Given the description of an element on the screen output the (x, y) to click on. 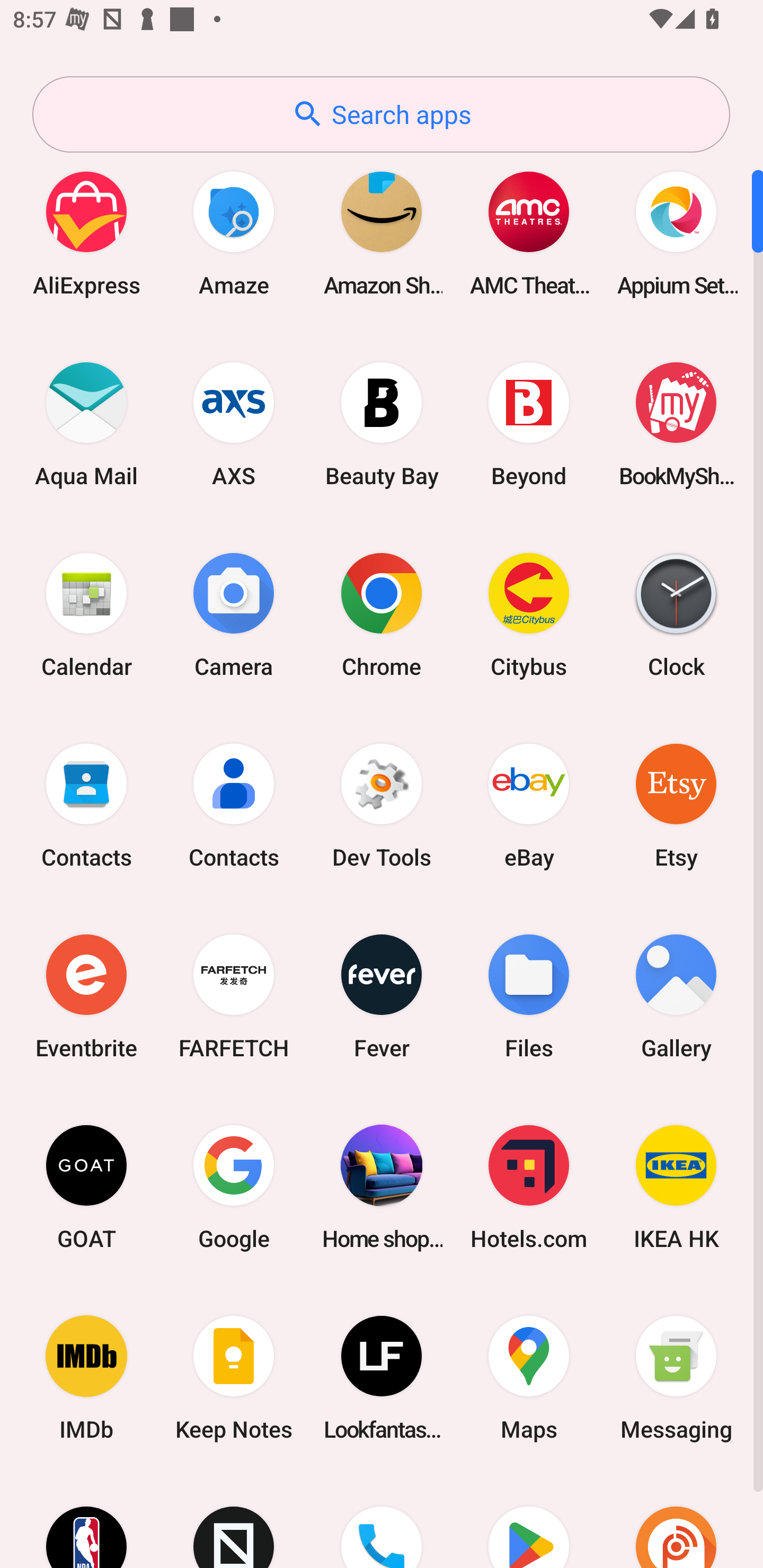
  Search apps (381, 114)
AliExpress (86, 233)
Amaze (233, 233)
Amazon Shopping (381, 233)
AMC Theatres (528, 233)
Appium Settings (676, 233)
Aqua Mail (86, 424)
AXS (233, 424)
Beauty Bay (381, 424)
Beyond (528, 424)
BookMyShow (676, 424)
Calendar (86, 614)
Camera (233, 614)
Chrome (381, 614)
Citybus (528, 614)
Clock (676, 614)
Contacts (86, 805)
Contacts (233, 805)
Dev Tools (381, 805)
eBay (528, 805)
Etsy (676, 805)
Eventbrite (86, 996)
FARFETCH (233, 996)
Fever (381, 996)
Files (528, 996)
Gallery (676, 996)
GOAT (86, 1186)
Google (233, 1186)
Home shopping (381, 1186)
Hotels.com (528, 1186)
IKEA HK (676, 1186)
IMDb (86, 1377)
Keep Notes (233, 1377)
Lookfantastic (381, 1377)
Maps (528, 1377)
Messaging (676, 1377)
NBA (86, 1520)
Novelship (233, 1520)
Phone (381, 1520)
Play Store (528, 1520)
Podcast Addict (676, 1520)
